Given the description of an element on the screen output the (x, y) to click on. 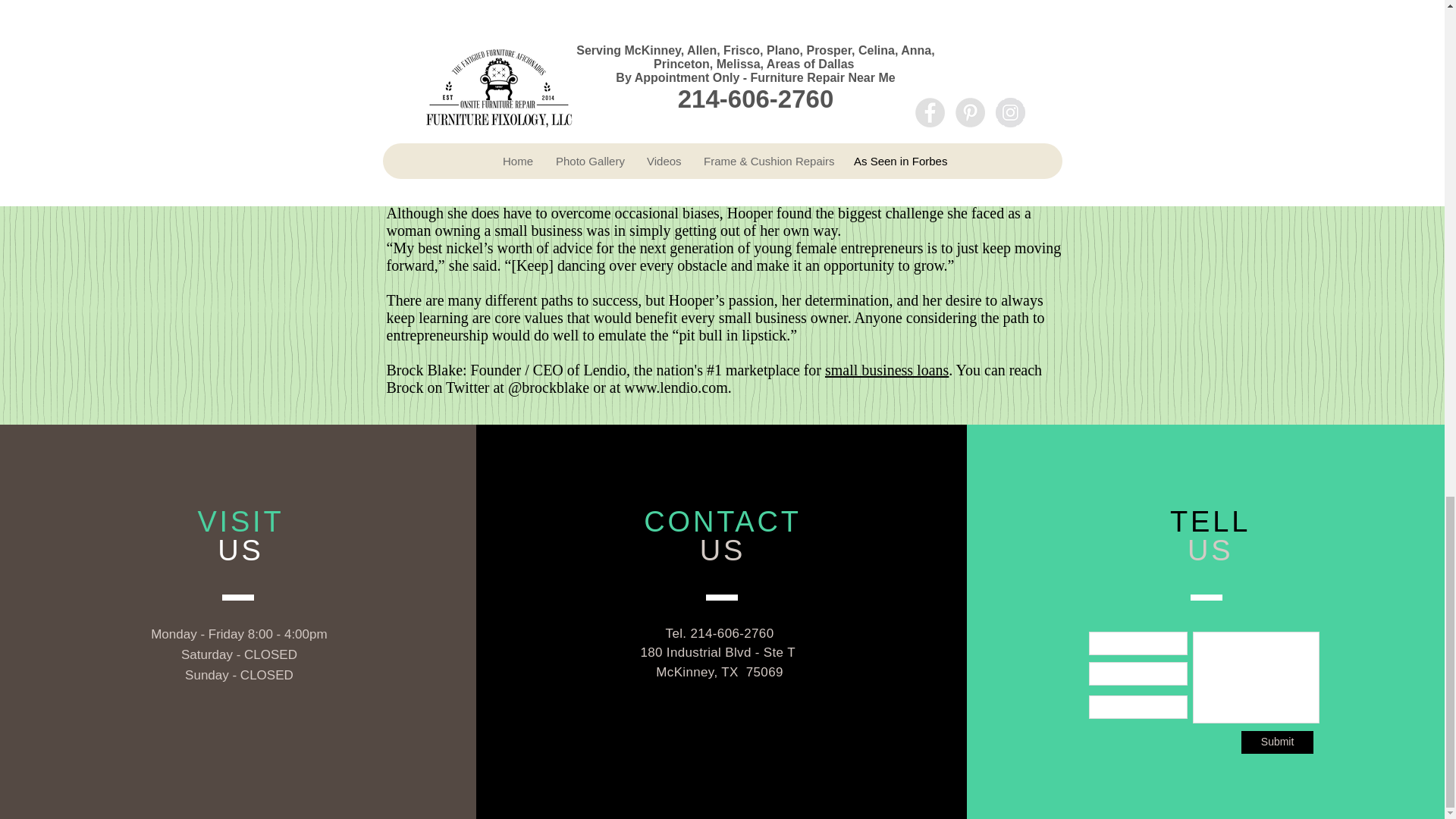
Submit (1277, 742)
small business loans (887, 369)
www.lendio.com (675, 387)
